Given the description of an element on the screen output the (x, y) to click on. 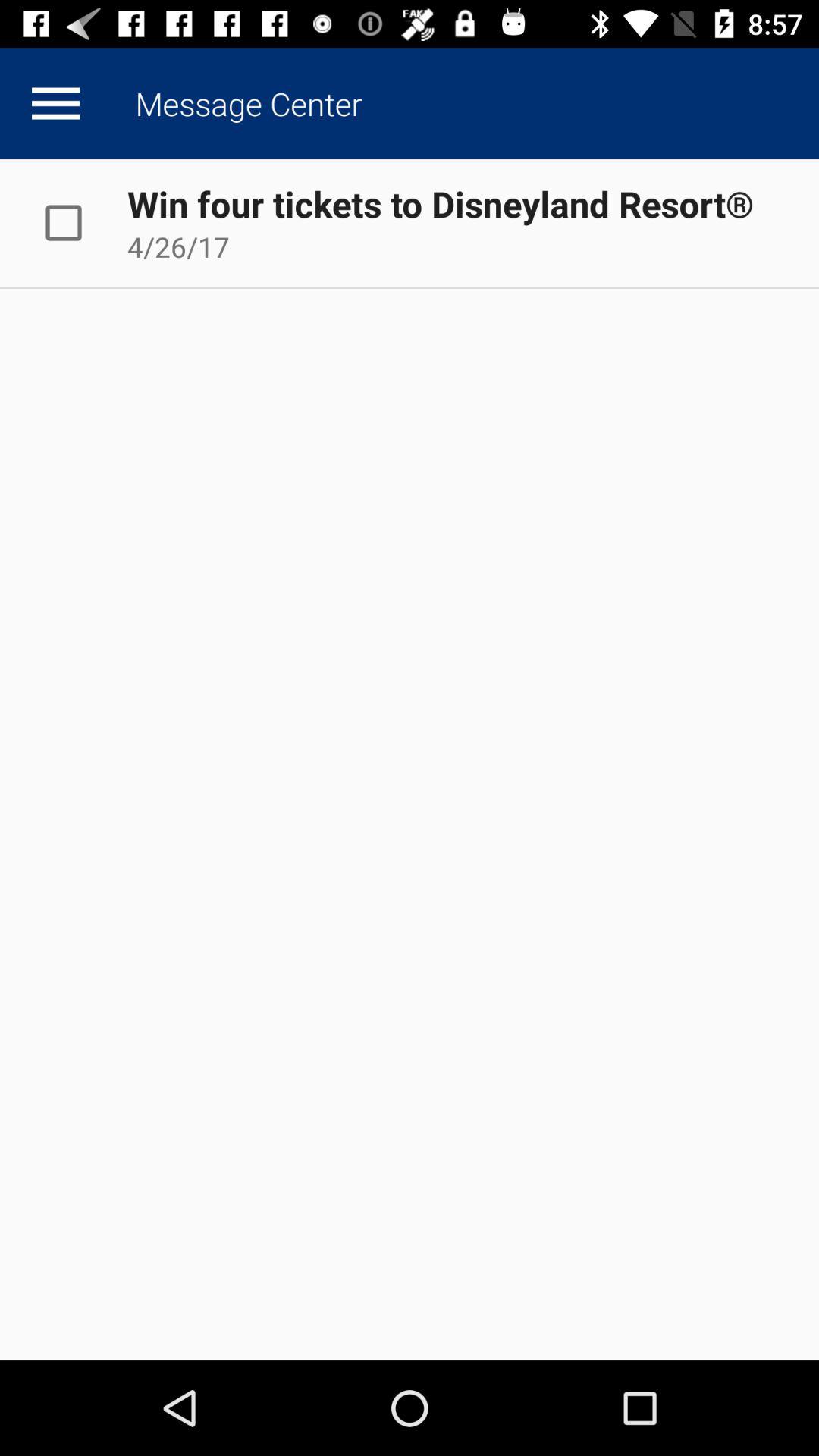
swipe until 4/26/17 app (178, 246)
